Given the description of an element on the screen output the (x, y) to click on. 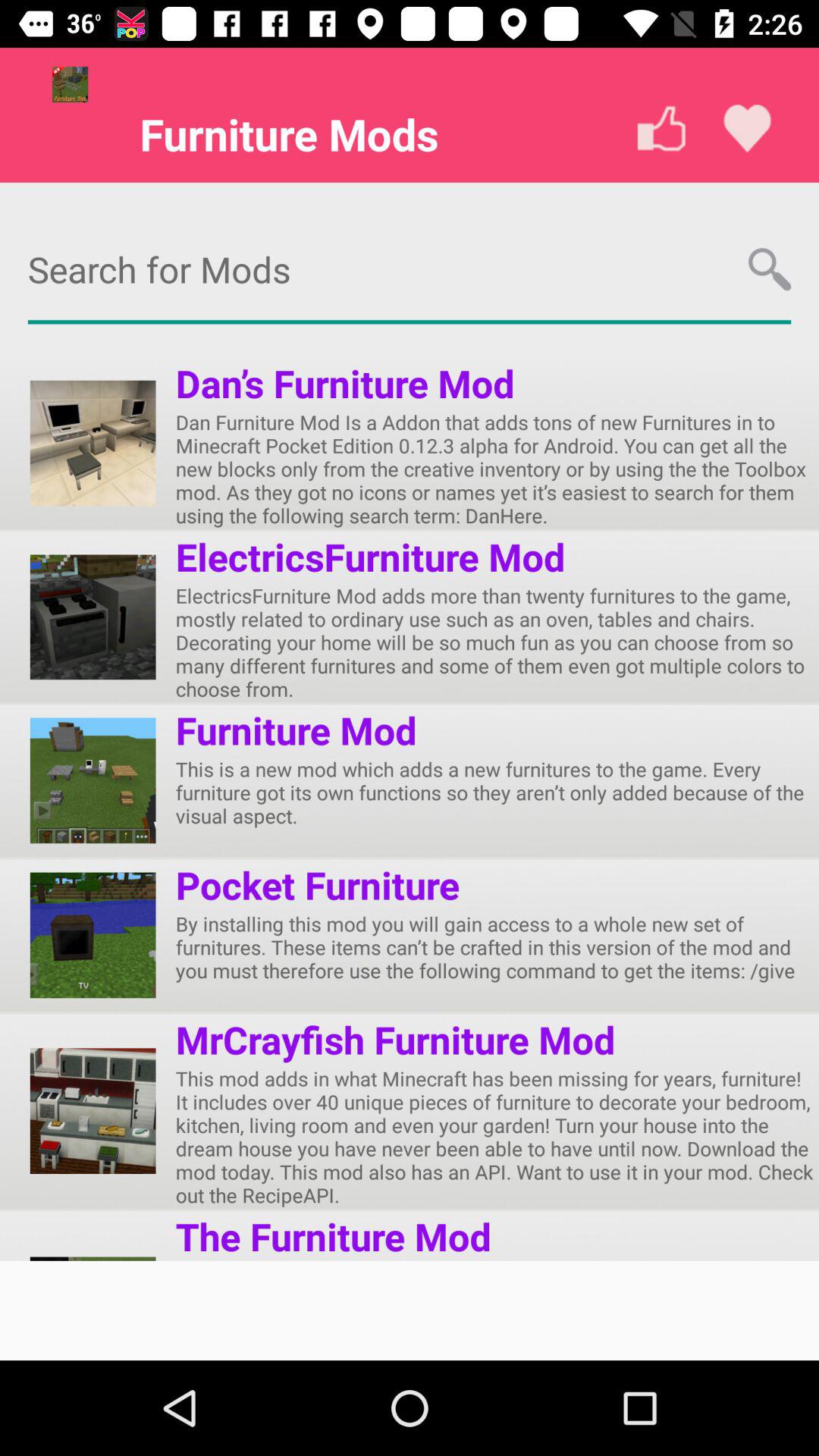
swipe to mrcrayfish furniture mod app (395, 1039)
